Given the description of an element on the screen output the (x, y) to click on. 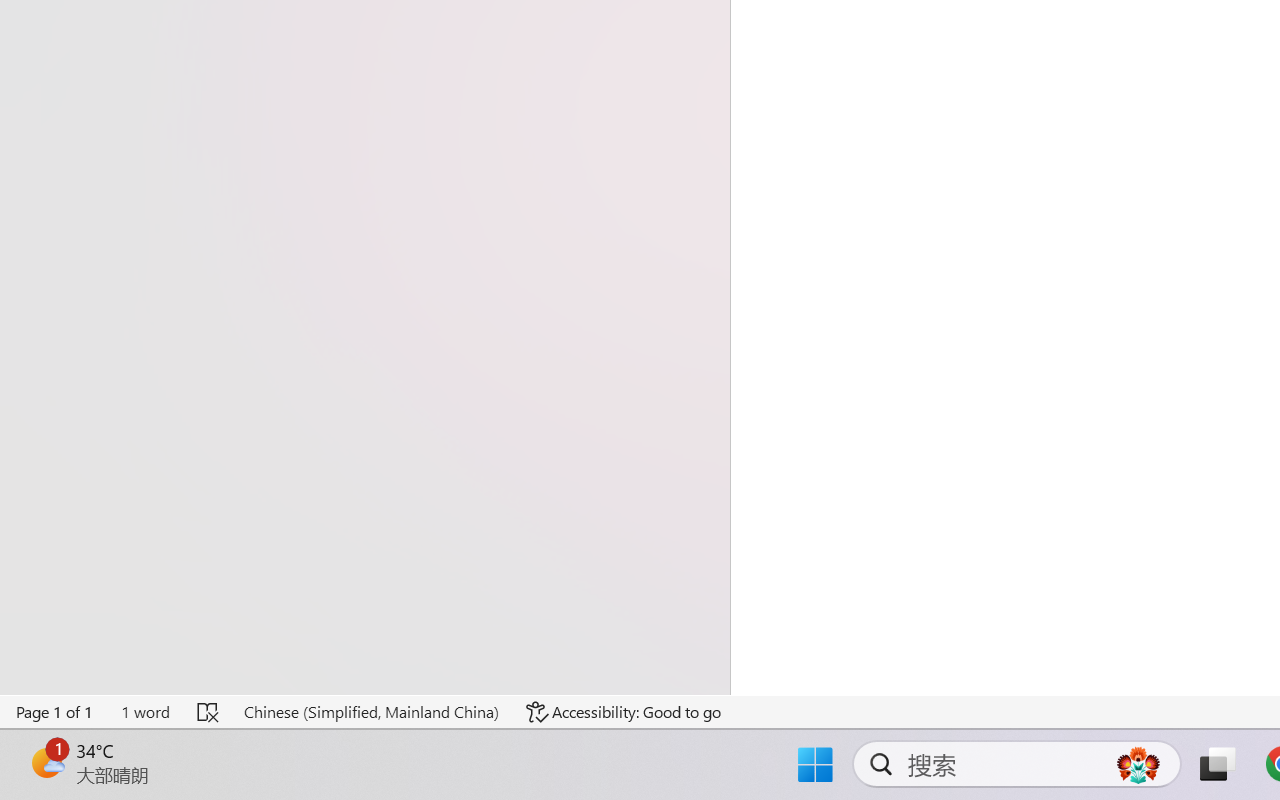
Spelling and Grammar Check Errors (208, 712)
Language Chinese (Simplified, Mainland China) (370, 712)
